Given the description of an element on the screen output the (x, y) to click on. 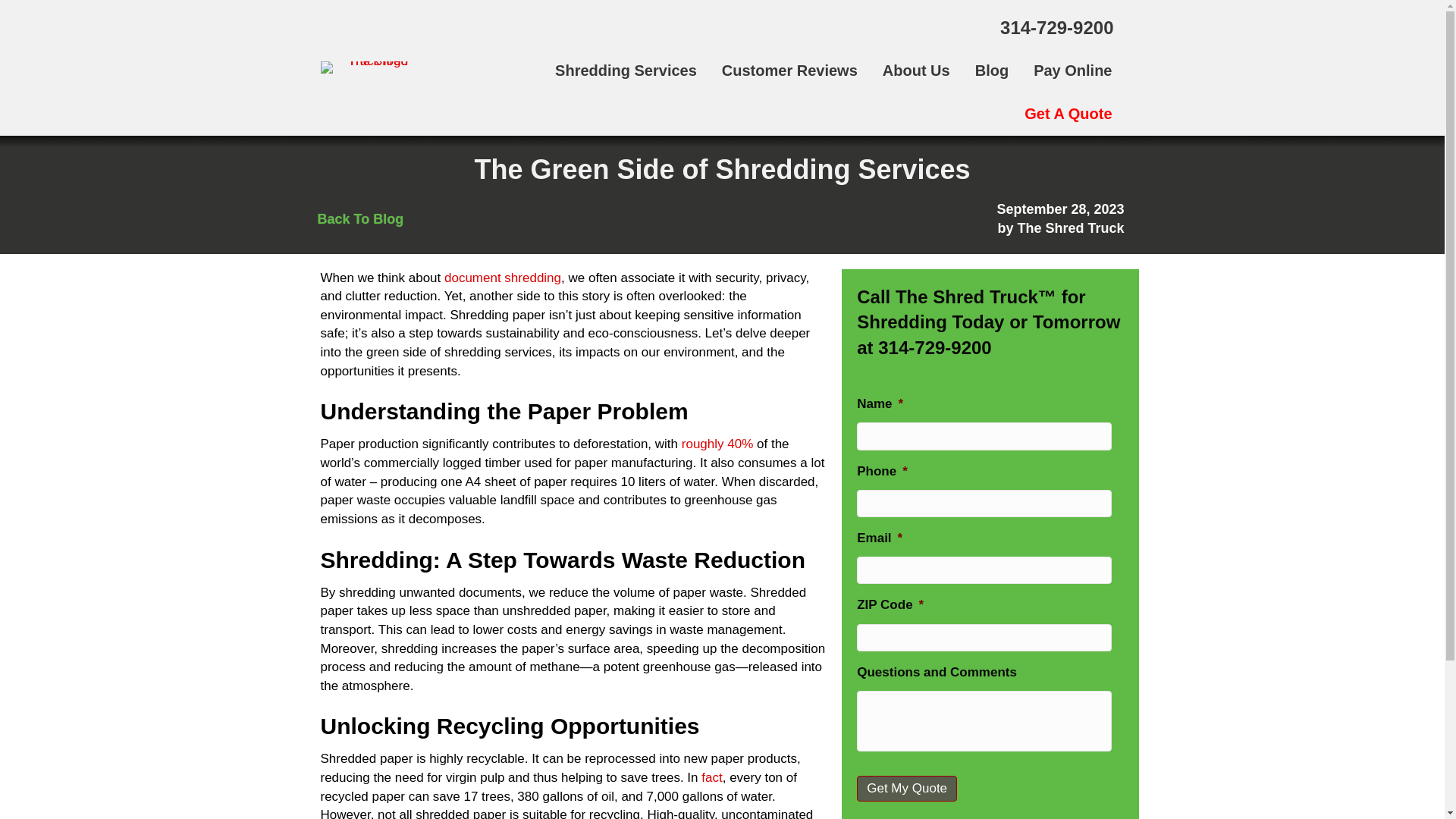
Get A Quote (1067, 113)
Blog (991, 70)
Customer Reviews (789, 70)
Pay Online (1073, 70)
About Us (916, 70)
Shredding Services (626, 70)
314-729-9200 (1056, 27)
Get My Quote (906, 788)
